Given the description of an element on the screen output the (x, y) to click on. 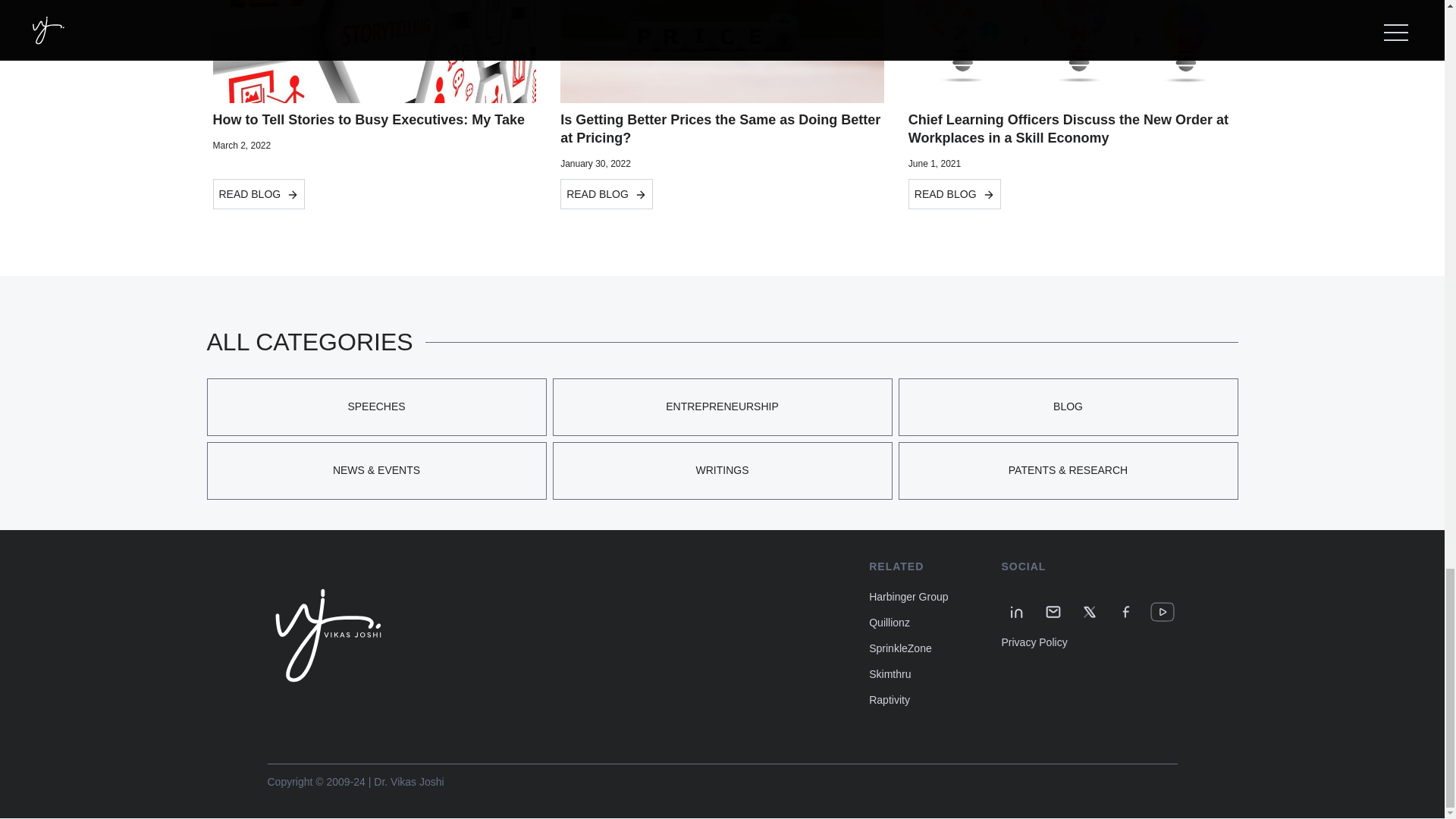
Privacy Policy (1034, 642)
READ BLOG (954, 194)
Harbinger Group (908, 596)
SprinkleZone (900, 648)
READ BLOG (258, 194)
SPEECHES (376, 406)
BLOG (1067, 406)
READ BLOG (606, 194)
Raptivity (889, 699)
WRITINGS (721, 470)
Quillionz (889, 622)
ENTREPRENEURSHIP (721, 406)
